Given the description of an element on the screen output the (x, y) to click on. 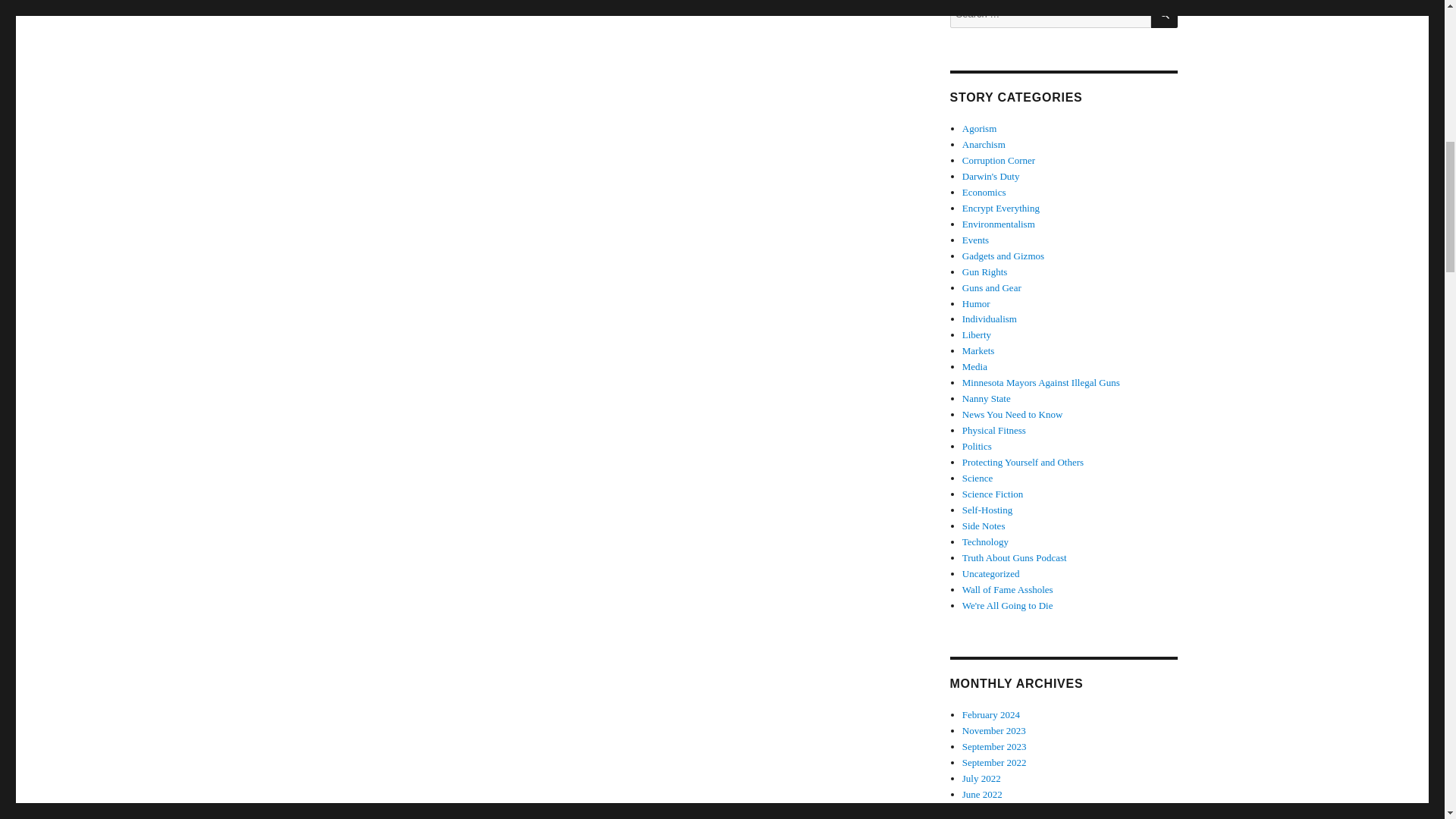
Protecting Yourself and Others (1022, 461)
Darwin's Duty (991, 175)
Politics (976, 446)
Individualism (989, 318)
Science Fiction (992, 493)
Guns and Gear (992, 287)
Physical Fitness (994, 430)
Encrypt Everything (1000, 207)
Nanny State (986, 398)
Humor (976, 302)
Events (975, 239)
Agorism (979, 128)
Minnesota Mayors Against Illegal Guns (1040, 382)
Markets (978, 350)
Environmentalism (998, 224)
